Given the description of an element on the screen output the (x, y) to click on. 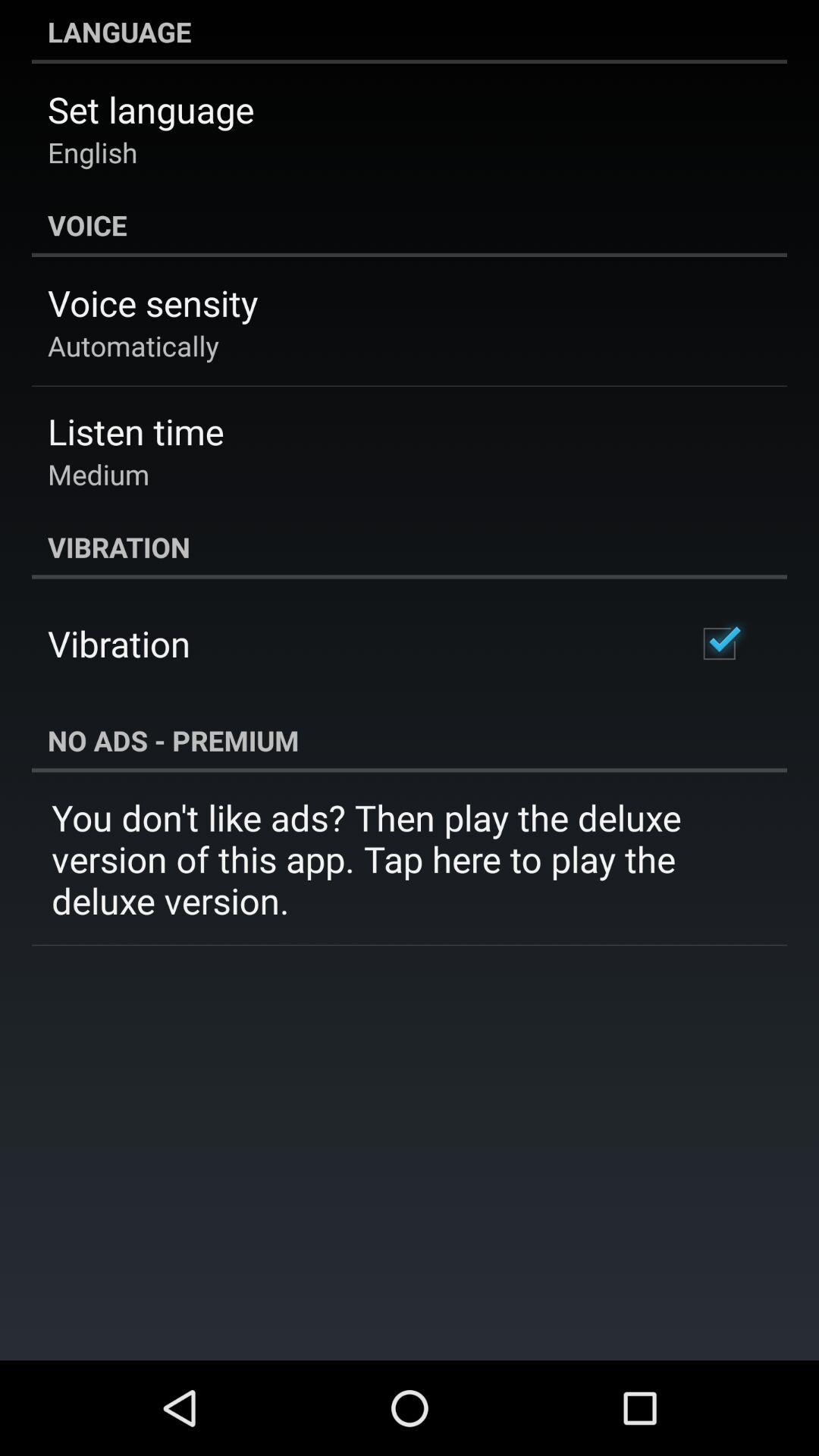
open the app to the right of vibration app (719, 643)
